Given the description of an element on the screen output the (x, y) to click on. 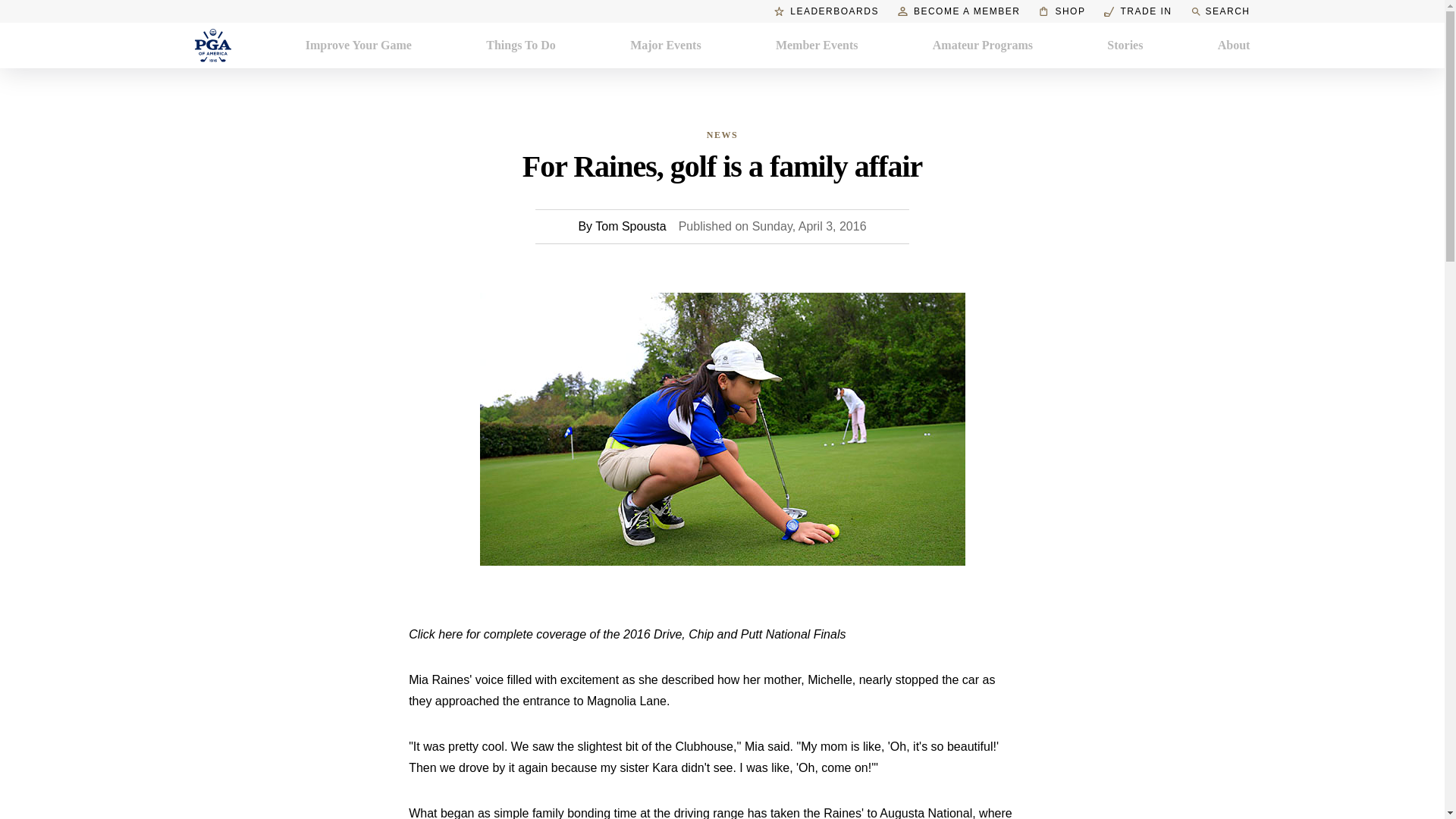
TRADE IN (1137, 10)
SEARCH (1220, 11)
SHOP (1061, 10)
Major Events (665, 44)
Amateur Programs (982, 44)
Member Events (817, 44)
Improve Your Game (358, 44)
Things To Do (521, 44)
BECOME A MEMBER (959, 10)
LEADERBOARDS (826, 10)
